Given the description of an element on the screen output the (x, y) to click on. 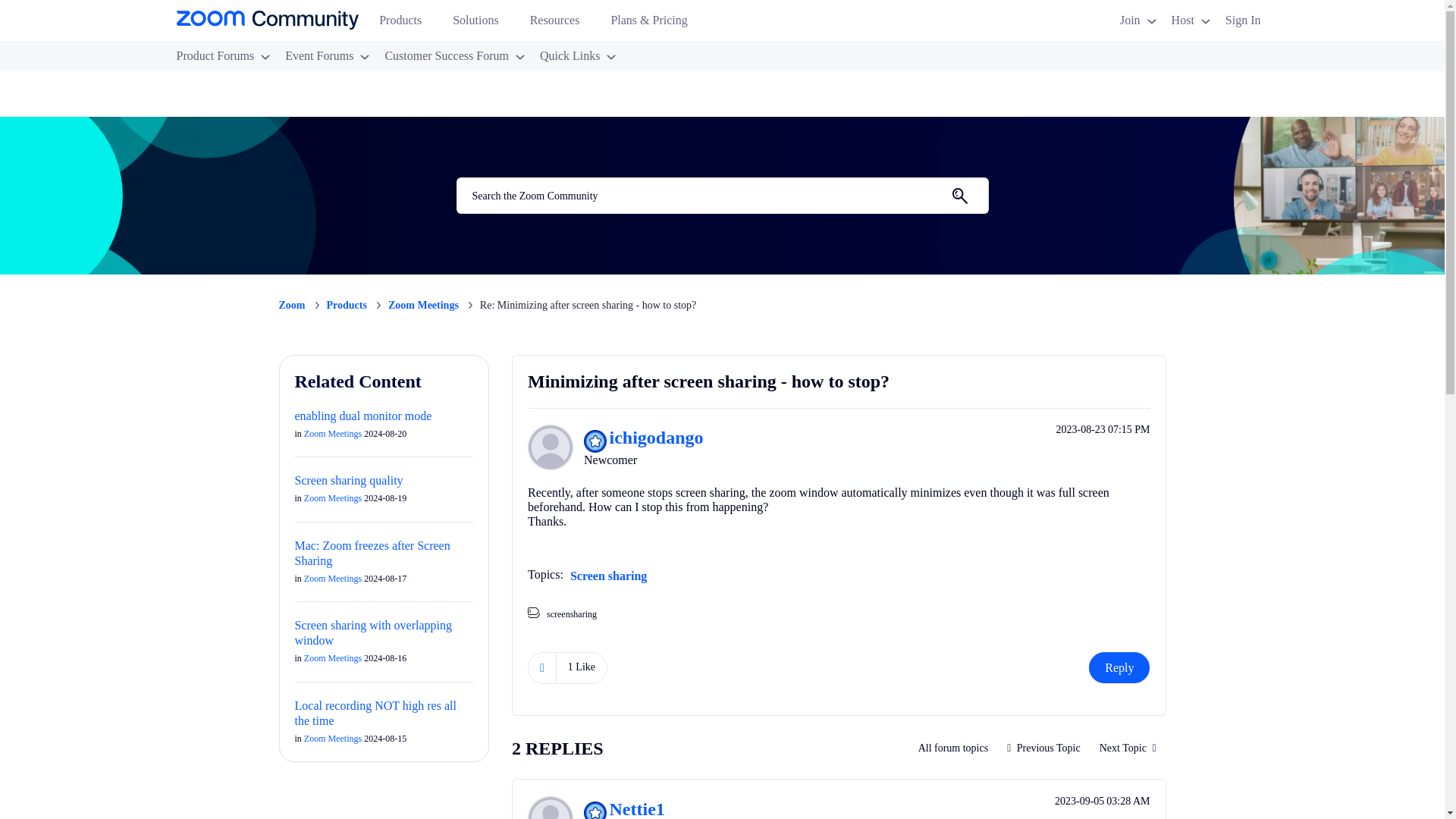
ichigodango (550, 447)
Search (959, 195)
Click here to see who gave likes to this post. (581, 666)
Click here to give likes to this post. (542, 667)
Products (406, 23)
Newcomer (595, 440)
Search (722, 195)
Zoom Meetings (953, 747)
Newcomer (595, 810)
